Given the description of an element on the screen output the (x, y) to click on. 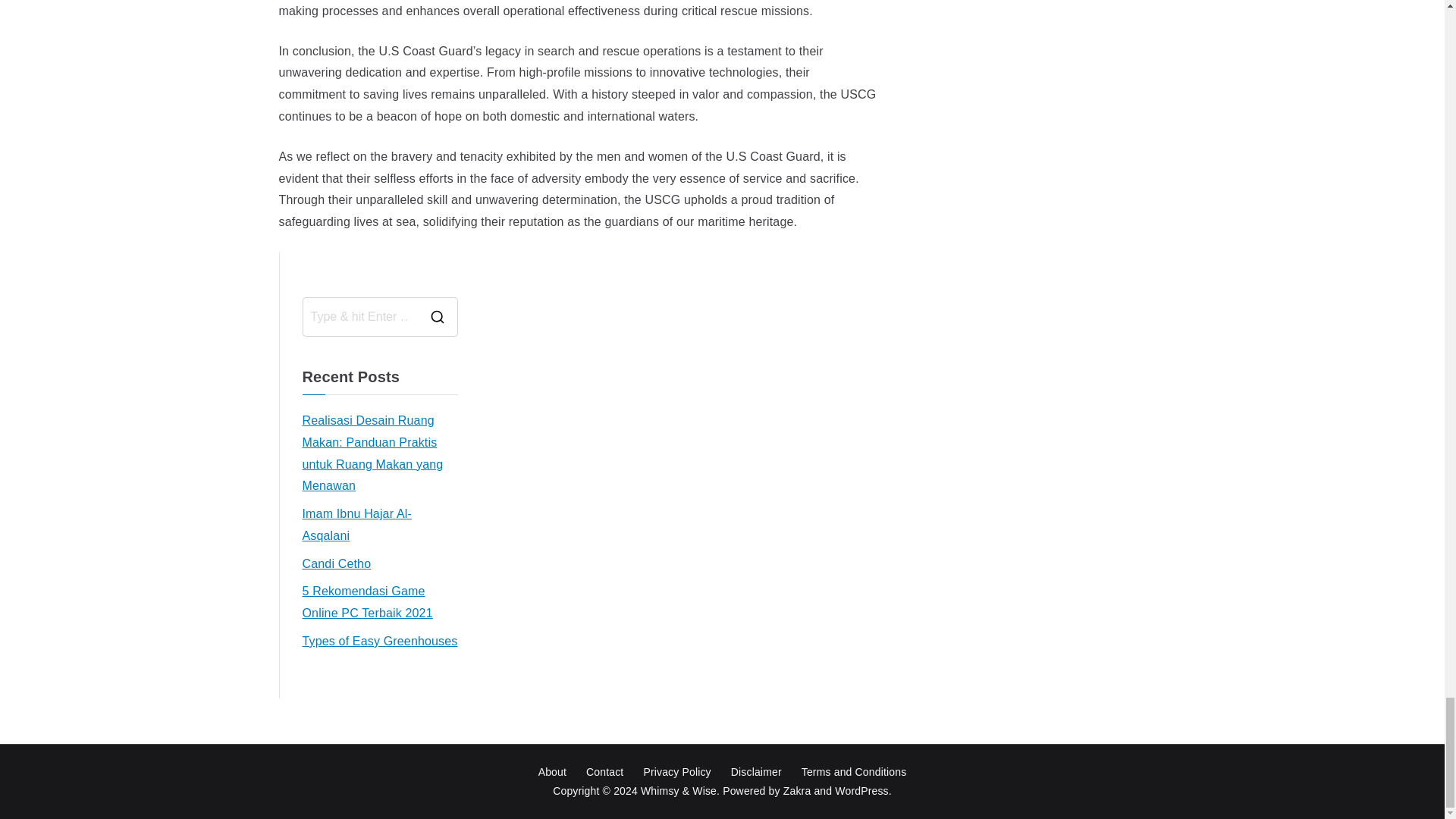
5 Rekomendasi Game Online PC Terbaik 2021 (379, 602)
Search for: (360, 316)
Types of Easy Greenhouses (379, 641)
Zakra (796, 790)
WordPress (861, 790)
Candi Cetho (336, 564)
Imam Ibnu Hajar Al-Asqalani (379, 525)
About (552, 772)
